Given the description of an element on the screen output the (x, y) to click on. 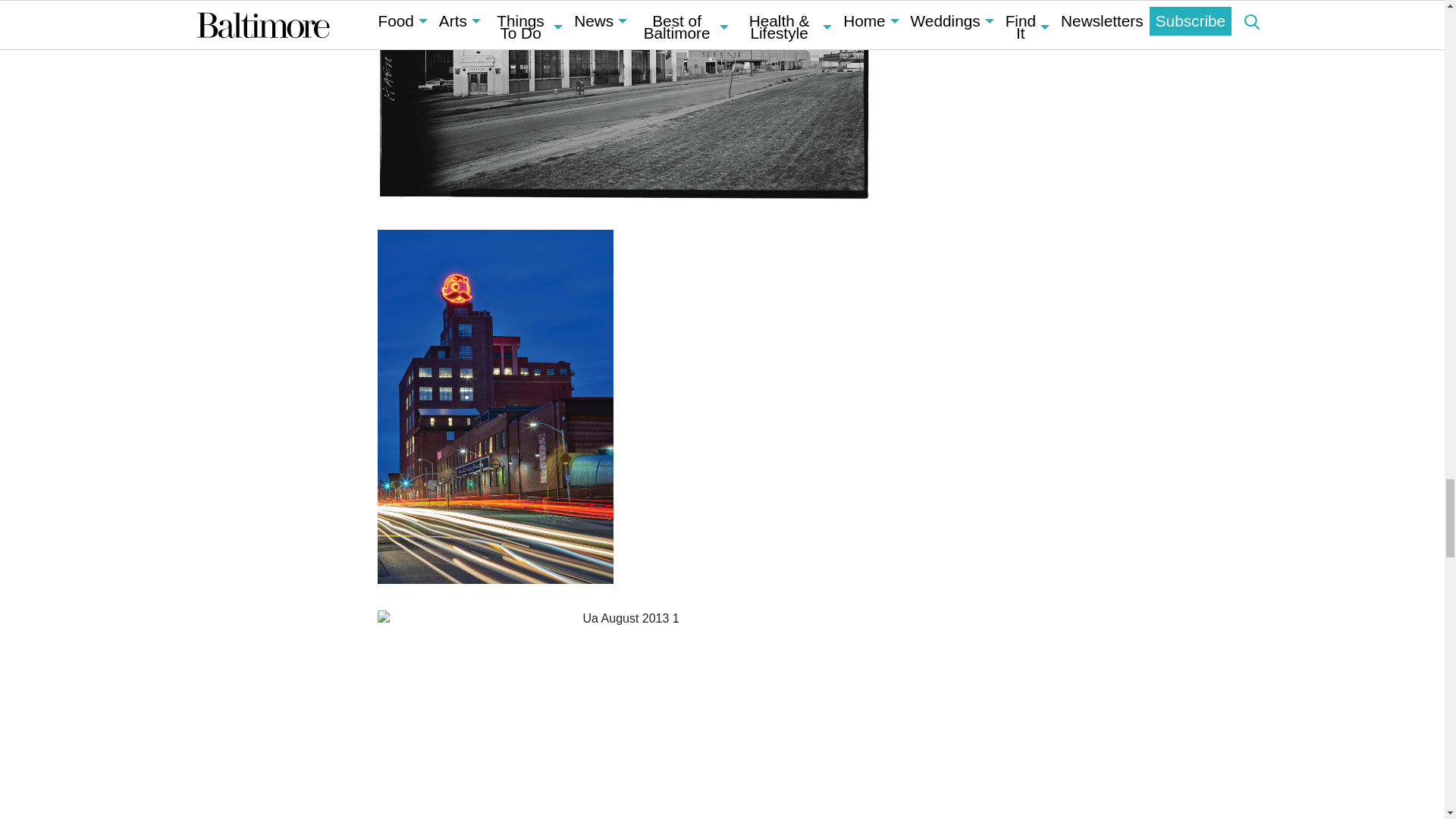
Ua August 2013 1 (624, 714)
